Given the description of an element on the screen output the (x, y) to click on. 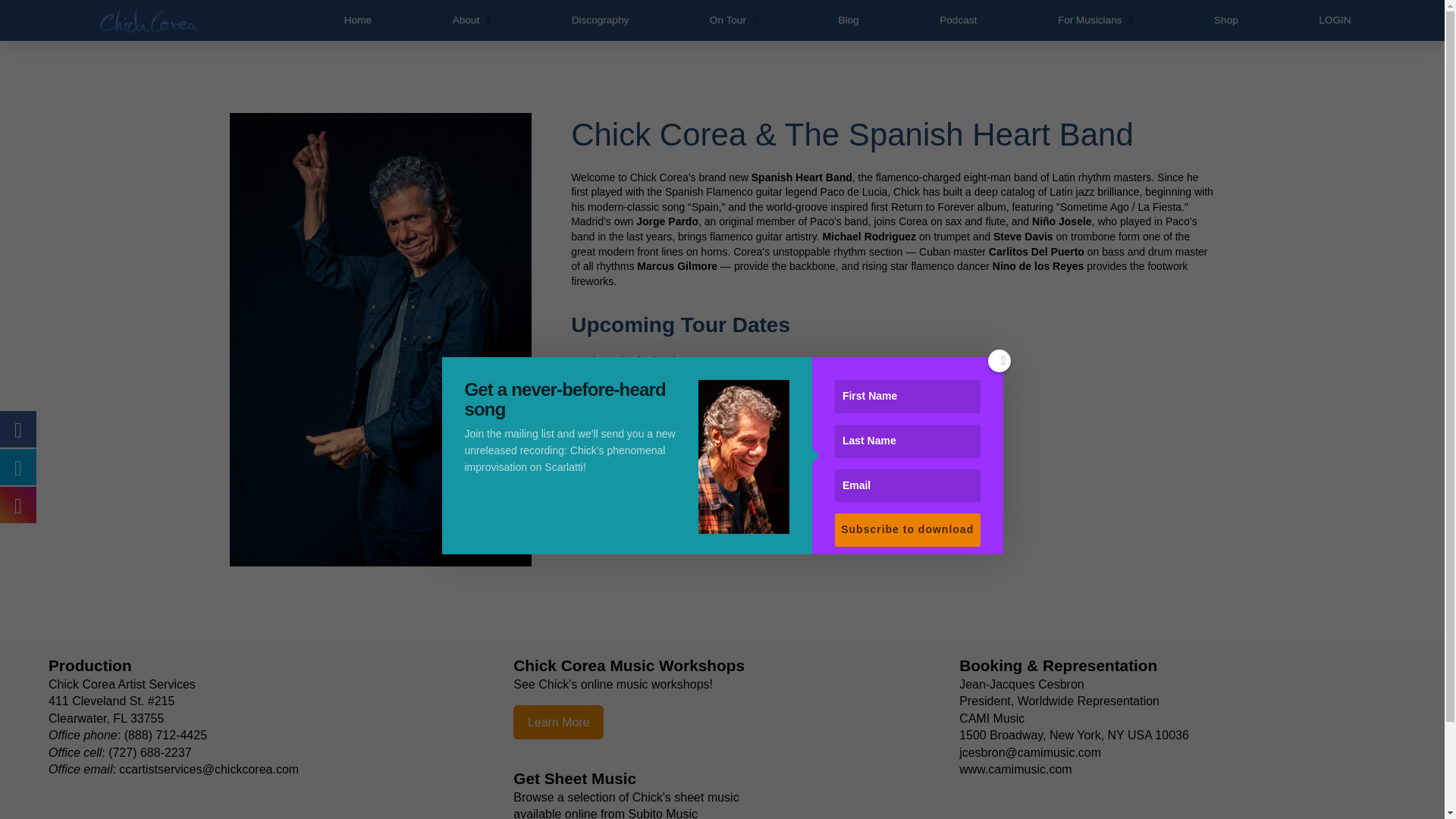
About (471, 20)
Shop (1225, 20)
Blog (848, 20)
Podcast (958, 20)
Discography (600, 20)
Home (358, 20)
Learn More (558, 721)
On Tour (733, 20)
For Musicians (1095, 20)
LOGIN (1334, 20)
